Given the description of an element on the screen output the (x, y) to click on. 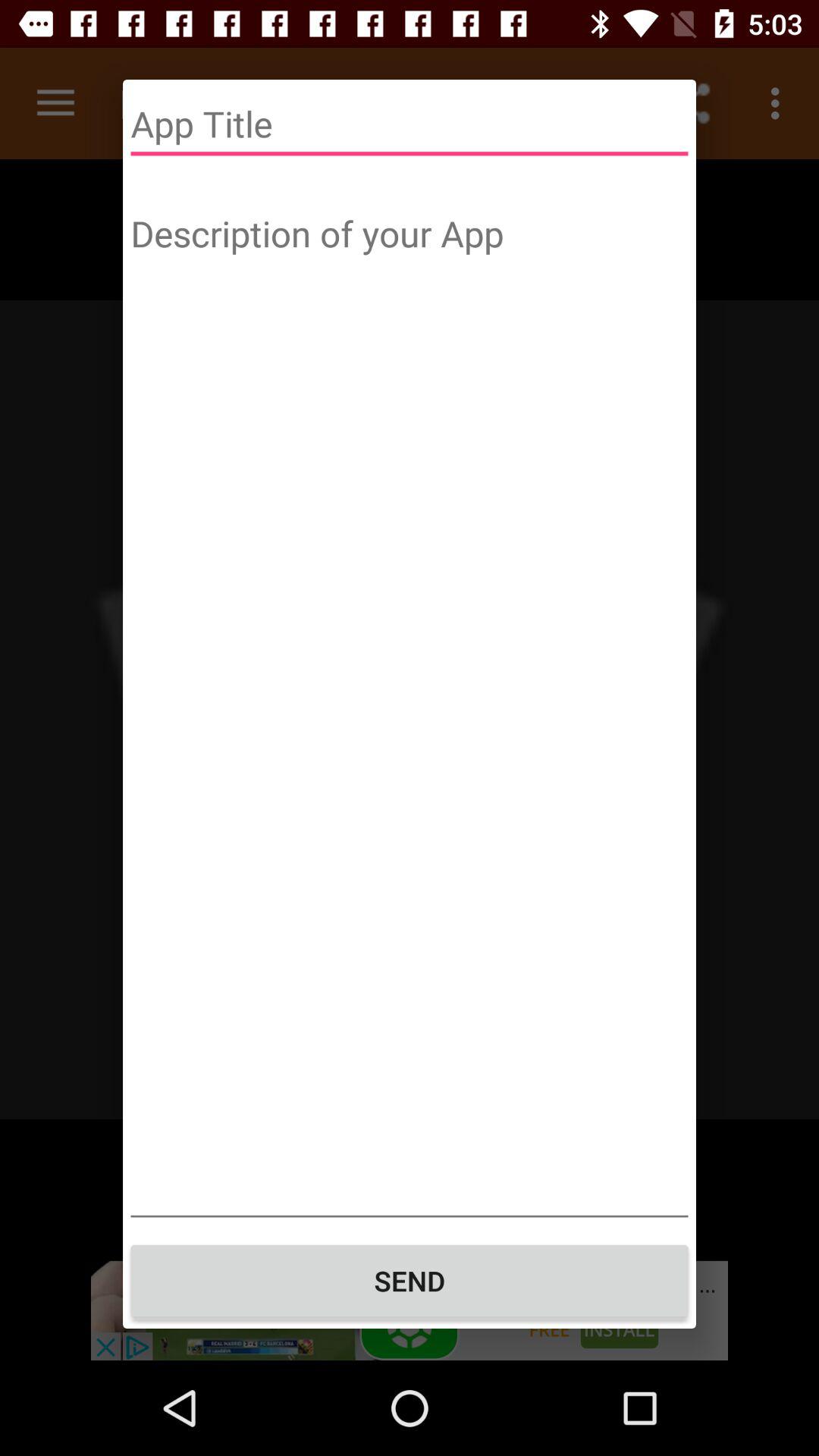
launch the send icon (409, 1280)
